Given the description of an element on the screen output the (x, y) to click on. 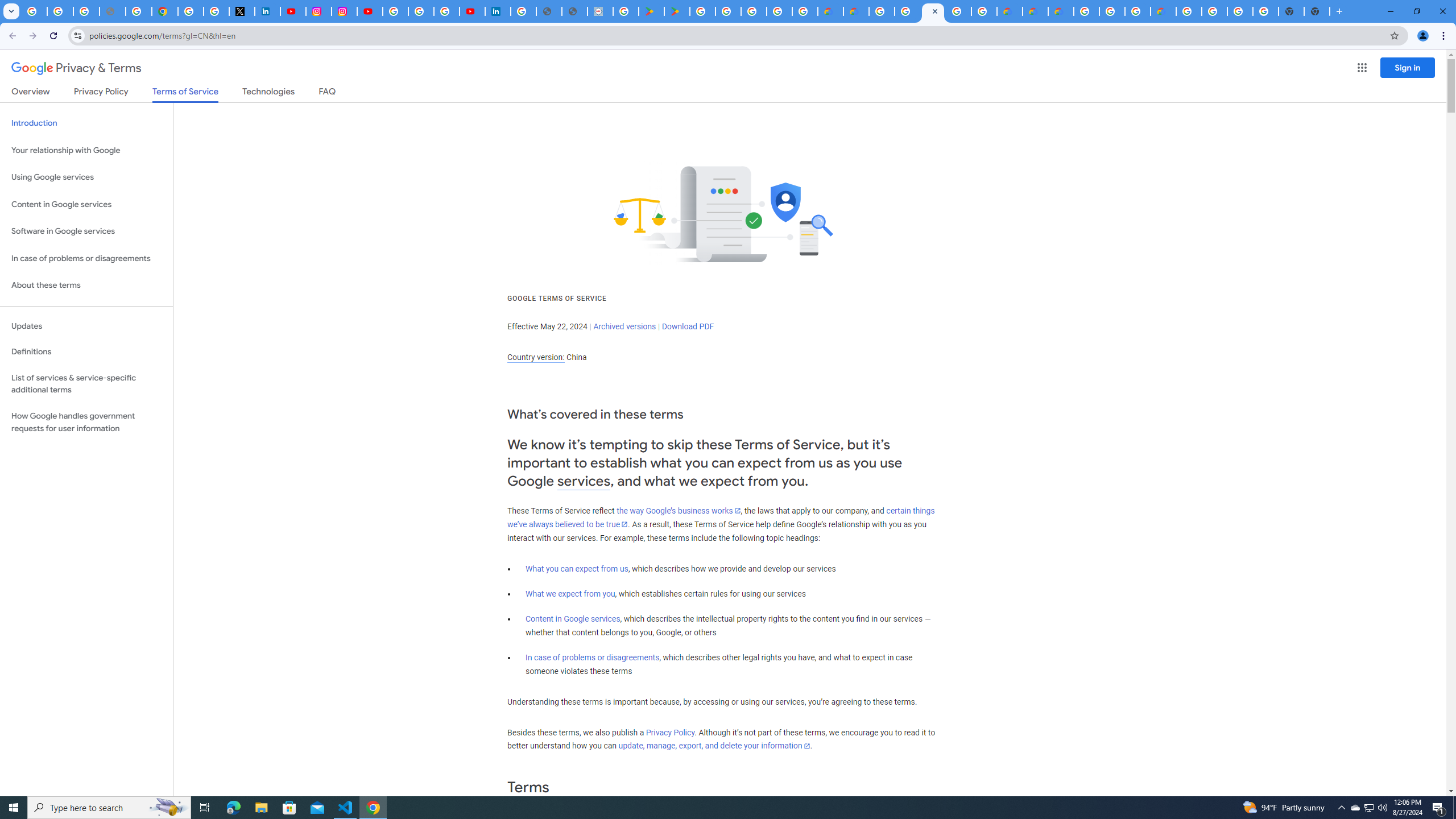
Country version: (535, 357)
update, manage, export, and delete your information (714, 746)
What we expect from you (570, 593)
Software in Google services (86, 230)
